Given the description of an element on the screen output the (x, y) to click on. 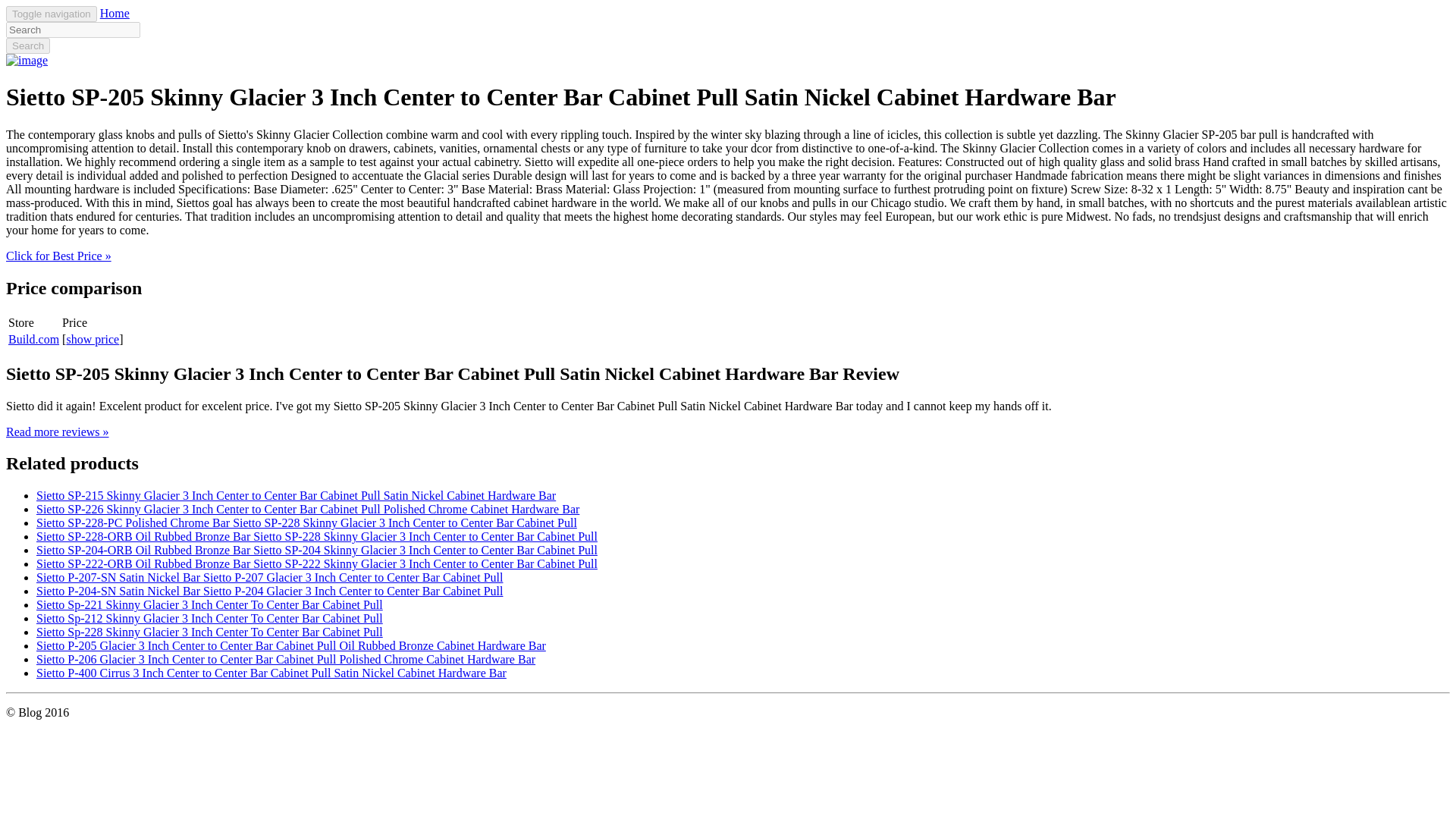
show price (92, 338)
Toggle navigation (51, 13)
Home (114, 12)
